Given the description of an element on the screen output the (x, y) to click on. 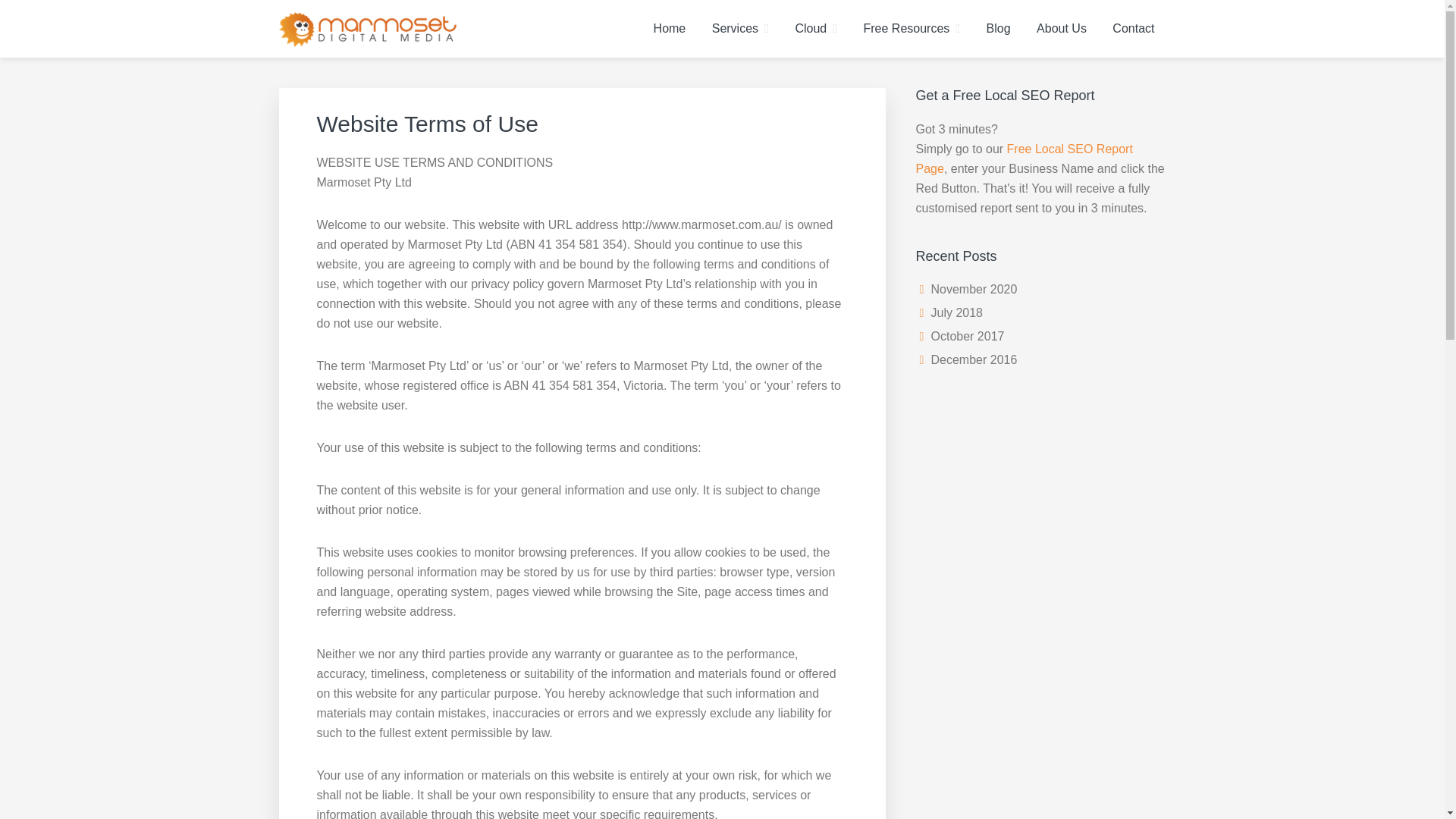
December 2016 Element type: text (974, 359)
Contact Element type: text (1133, 28)
Blog Element type: text (998, 28)
Services Element type: text (740, 28)
Skip to primary navigation Element type: text (0, 0)
MARMOSET DIGITAL MEDIA Element type: text (479, 64)
Home Element type: text (669, 28)
July 2018 Element type: text (957, 312)
November 2020 Element type: text (974, 288)
Free Local SEO Report Page Element type: text (1024, 158)
October 2017 Element type: text (967, 335)
About Us Element type: text (1061, 28)
Free Resources Element type: text (911, 28)
Cloud Element type: text (815, 28)
